Given the description of an element on the screen output the (x, y) to click on. 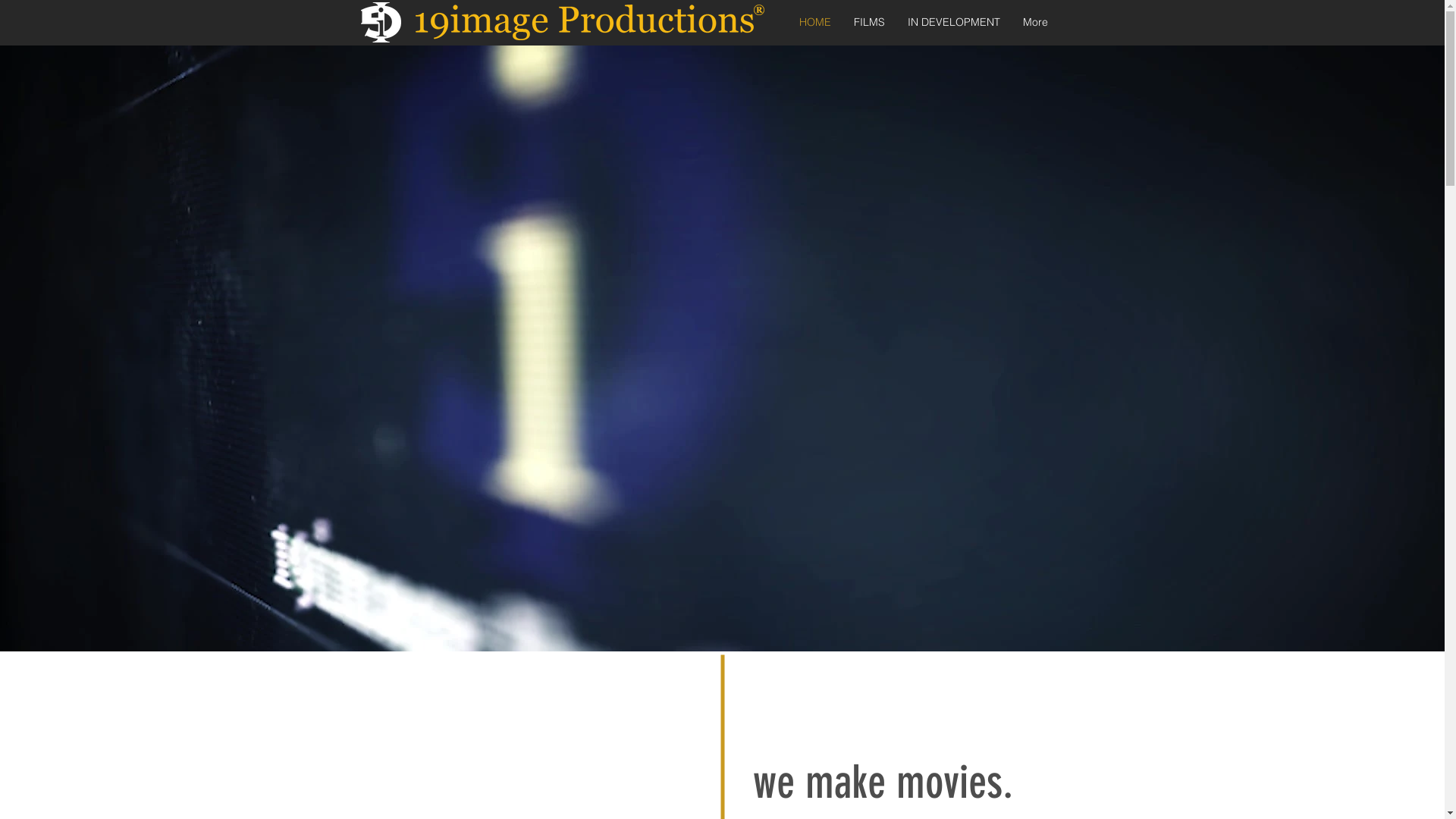
we make movies. Element type: text (882, 782)
IN DEVELOPMENT Element type: text (953, 22)
FILMS Element type: text (869, 22)
HOME Element type: text (814, 22)
